Given the description of an element on the screen output the (x, y) to click on. 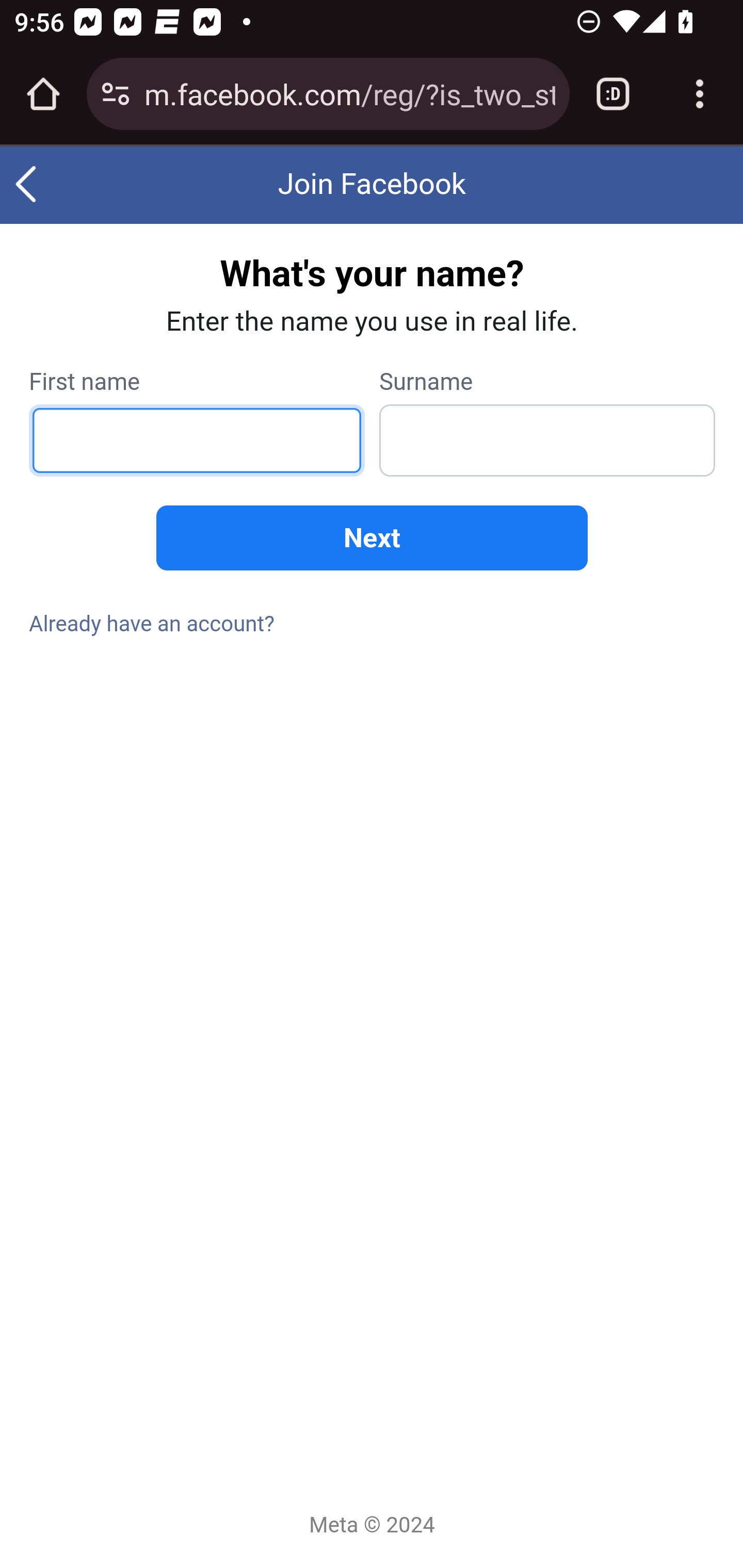
Open the home page (43, 93)
Connection is secure (115, 93)
Switch or close tabs (612, 93)
Customize and control Google Chrome (699, 93)
Next (371, 538)
Already have an account? (152, 622)
